Given the description of an element on the screen output the (x, y) to click on. 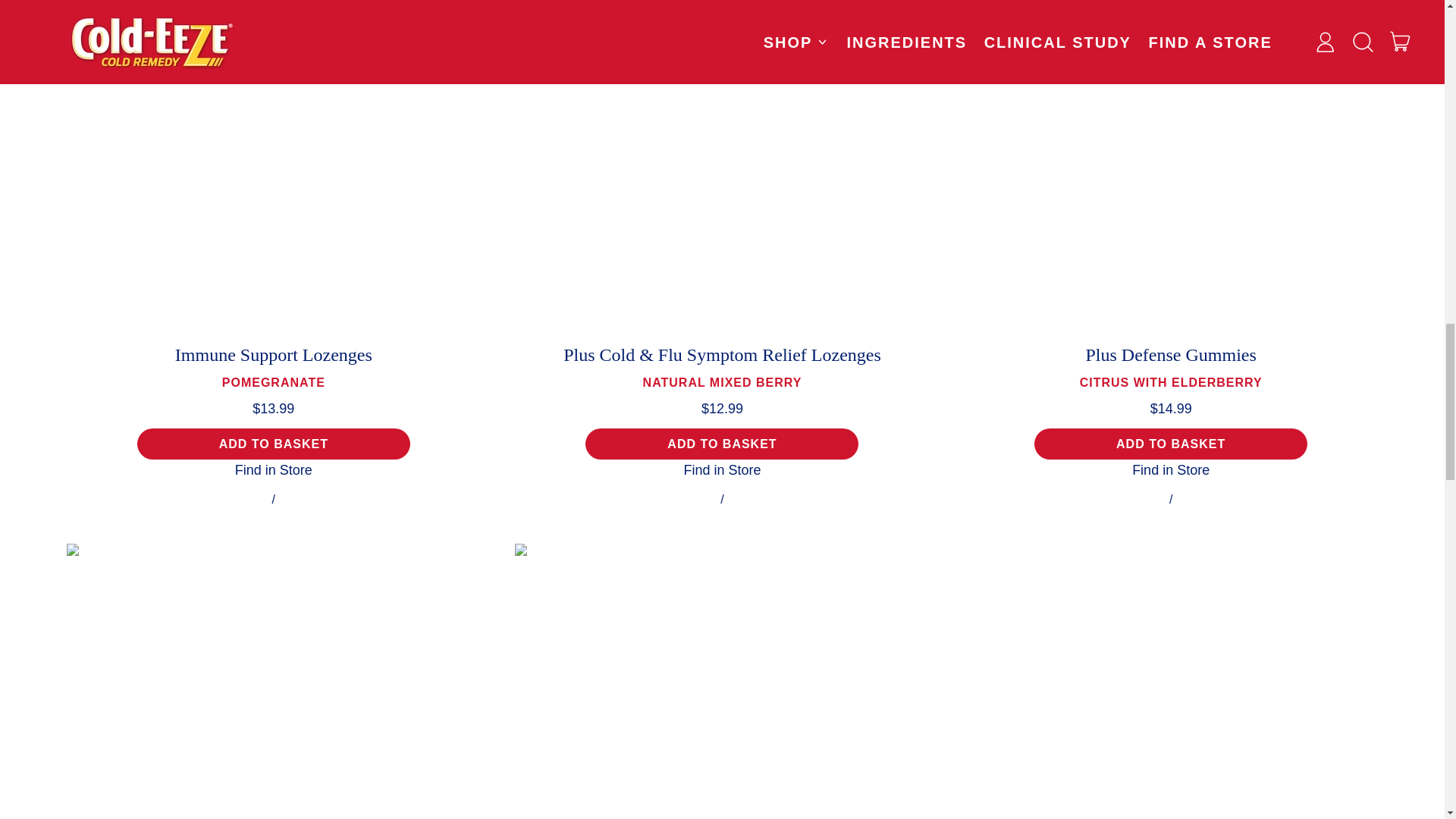
Find in Store (273, 469)
